Given the description of an element on the screen output the (x, y) to click on. 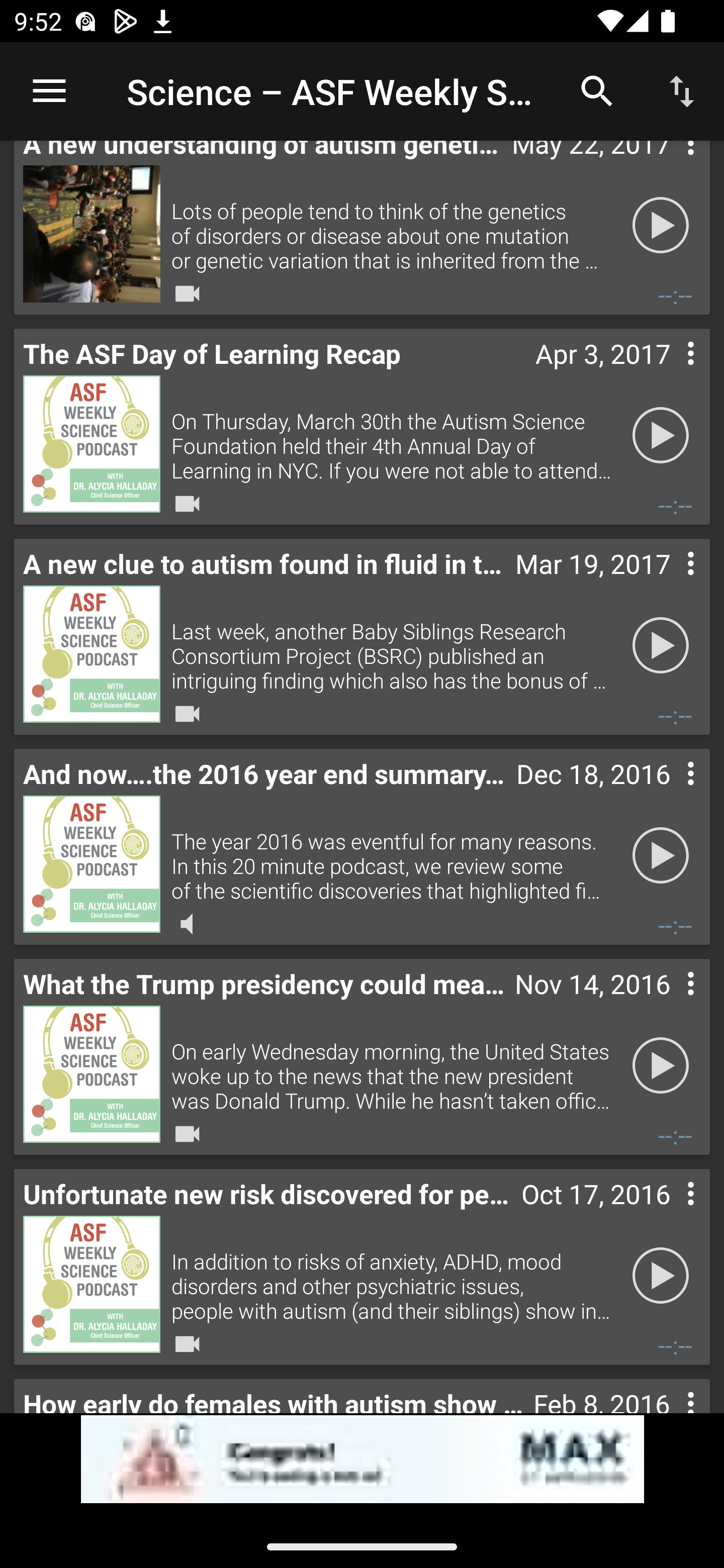
Open navigation sidebar (49, 91)
Search (597, 90)
Sort (681, 90)
Play (660, 224)
Contextual menu (668, 373)
Play (660, 434)
Contextual menu (668, 583)
Play (660, 644)
Contextual menu (668, 793)
Play (660, 854)
Contextual menu (668, 1003)
Play (660, 1065)
Contextual menu (668, 1213)
Play (660, 1275)
app-monetization (362, 1459)
(i) (14, 1489)
